Given the description of an element on the screen output the (x, y) to click on. 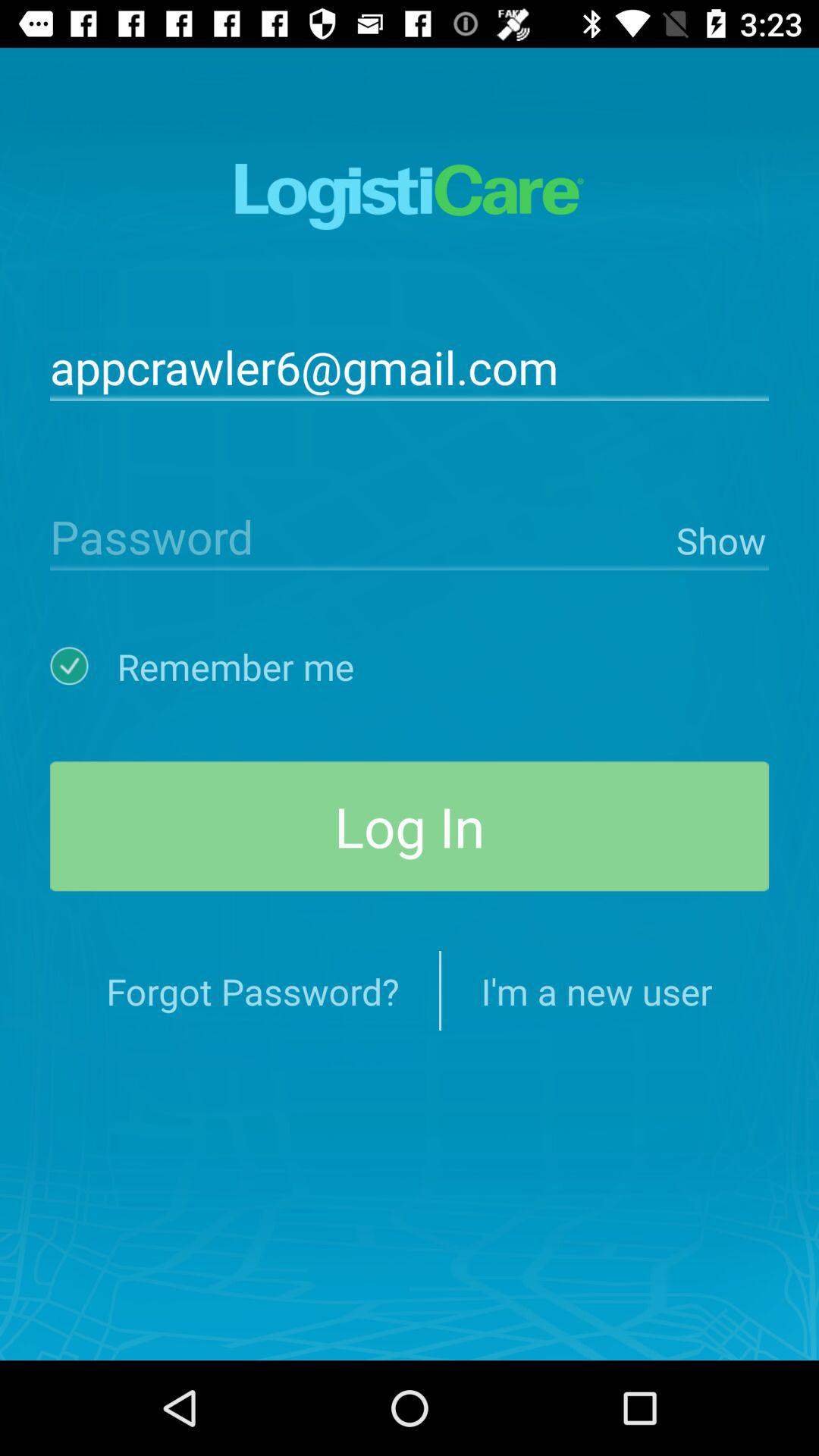
click forgot password? icon (252, 990)
